Given the description of an element on the screen output the (x, y) to click on. 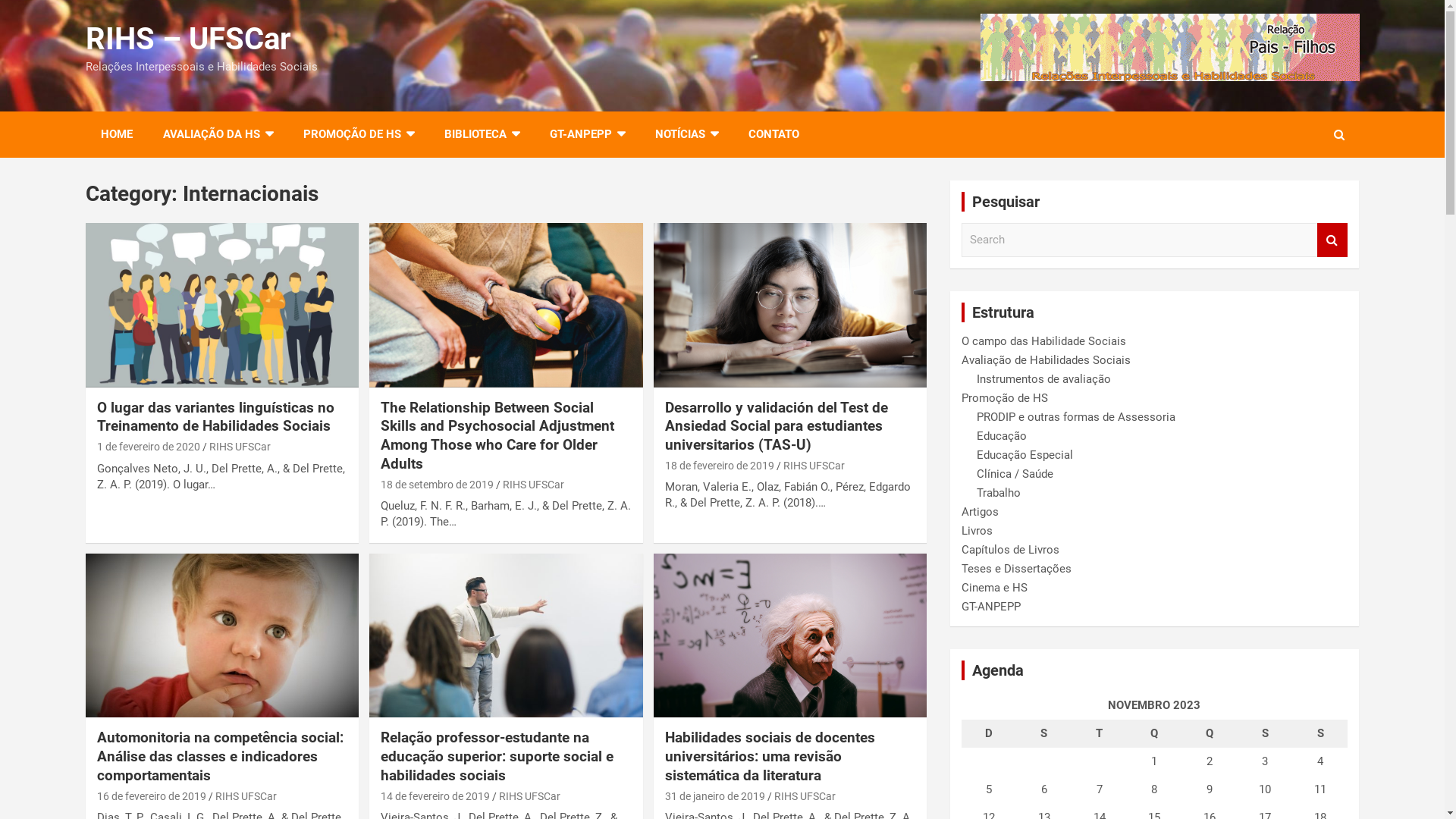
18 de setembro de 2019 Element type: text (436, 483)
RIHS UFSCar Element type: text (804, 796)
Search Element type: text (1332, 239)
RIHS UFSCar Element type: text (245, 796)
GT-ANPEPP Element type: text (990, 605)
RIHS UFSCar Element type: text (533, 483)
31 de janeiro de 2019 Element type: text (715, 796)
1 de fevereiro de 2020 Element type: text (148, 446)
16 de fevereiro de 2019 Element type: text (151, 796)
Artigos Element type: text (979, 511)
RIHS UFSCar Element type: text (529, 796)
Trabalho Element type: text (998, 491)
BIBLIOTECA Element type: text (481, 134)
Livros Element type: text (976, 529)
O campo das Habilidade Sociais Element type: text (1043, 340)
HOME Element type: text (115, 134)
14 de fevereiro de 2019 Element type: text (434, 796)
18 de fevereiro de 2019 Element type: text (719, 465)
RIHS UFSCar Element type: text (239, 446)
Cinema e HS Element type: text (994, 587)
PRODIP e outras formas de Assessoria Element type: text (1075, 416)
GT-ANPEPP Element type: text (586, 134)
CONTATO Element type: text (772, 134)
RIHS UFSCar Element type: text (813, 465)
